Given the description of an element on the screen output the (x, y) to click on. 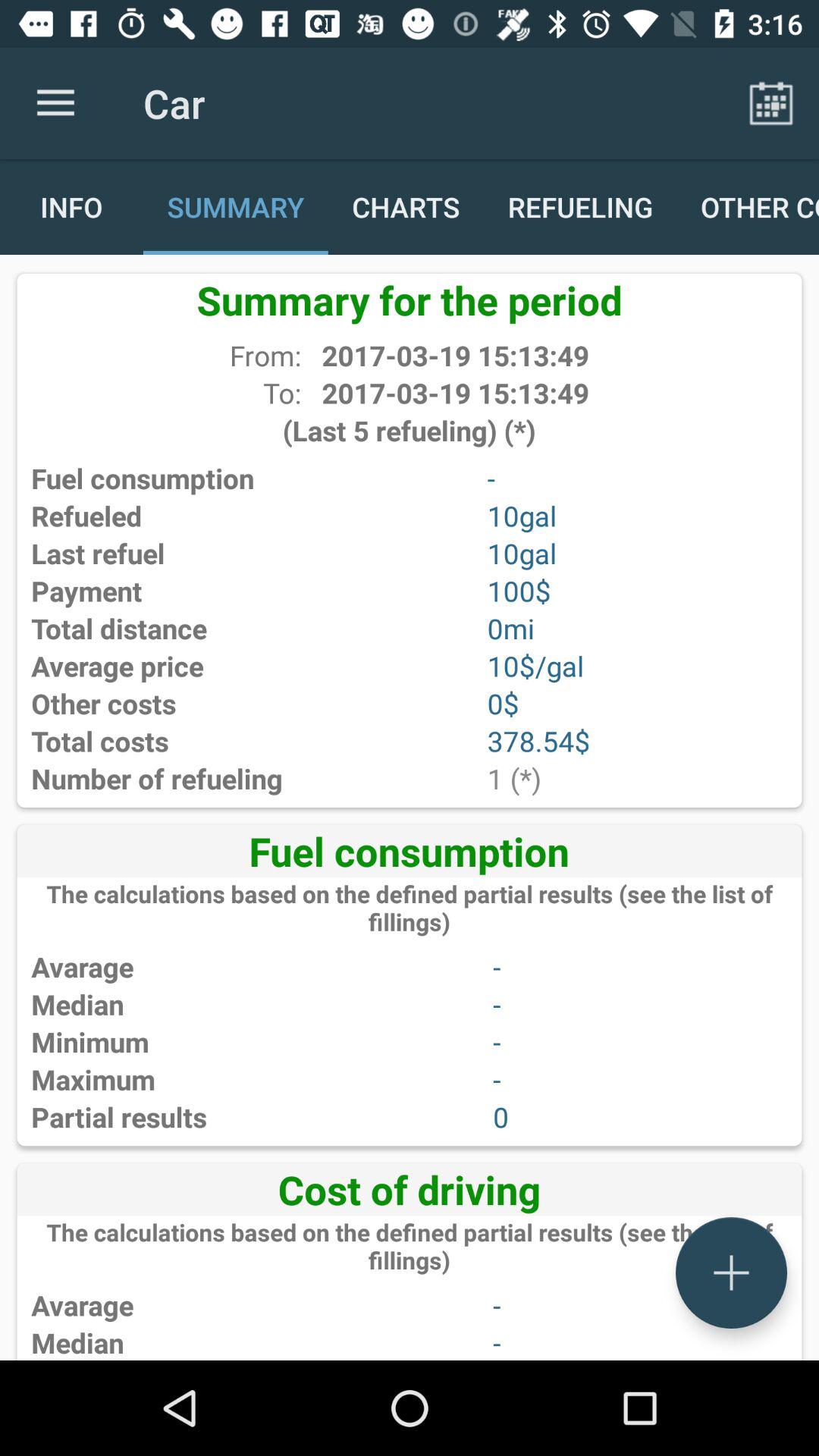
adding button (731, 1272)
